Given the description of an element on the screen output the (x, y) to click on. 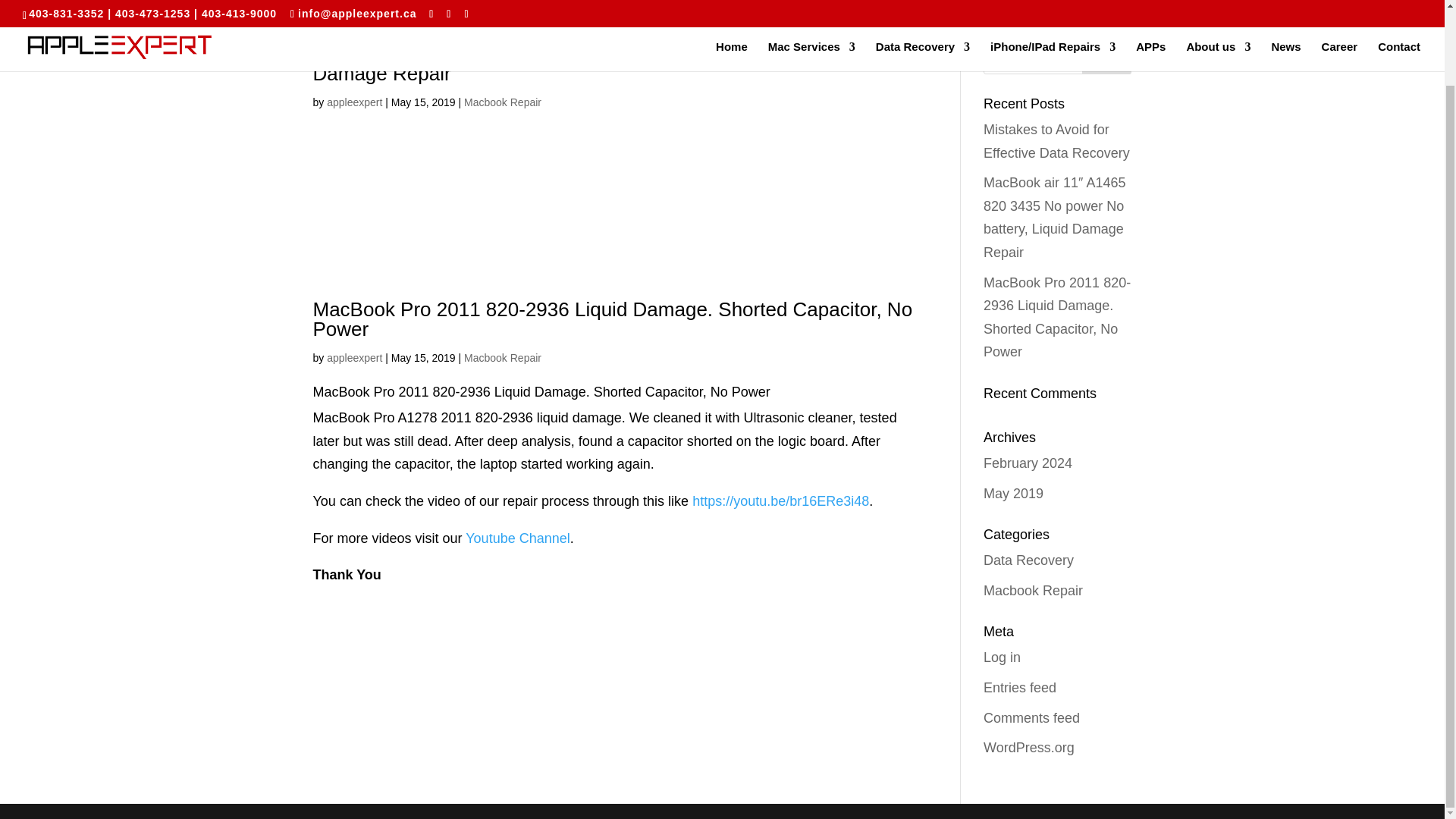
Posts by appleexpert (353, 102)
Search (1106, 59)
Posts by appleexpert (353, 357)
